Given the description of an element on the screen output the (x, y) to click on. 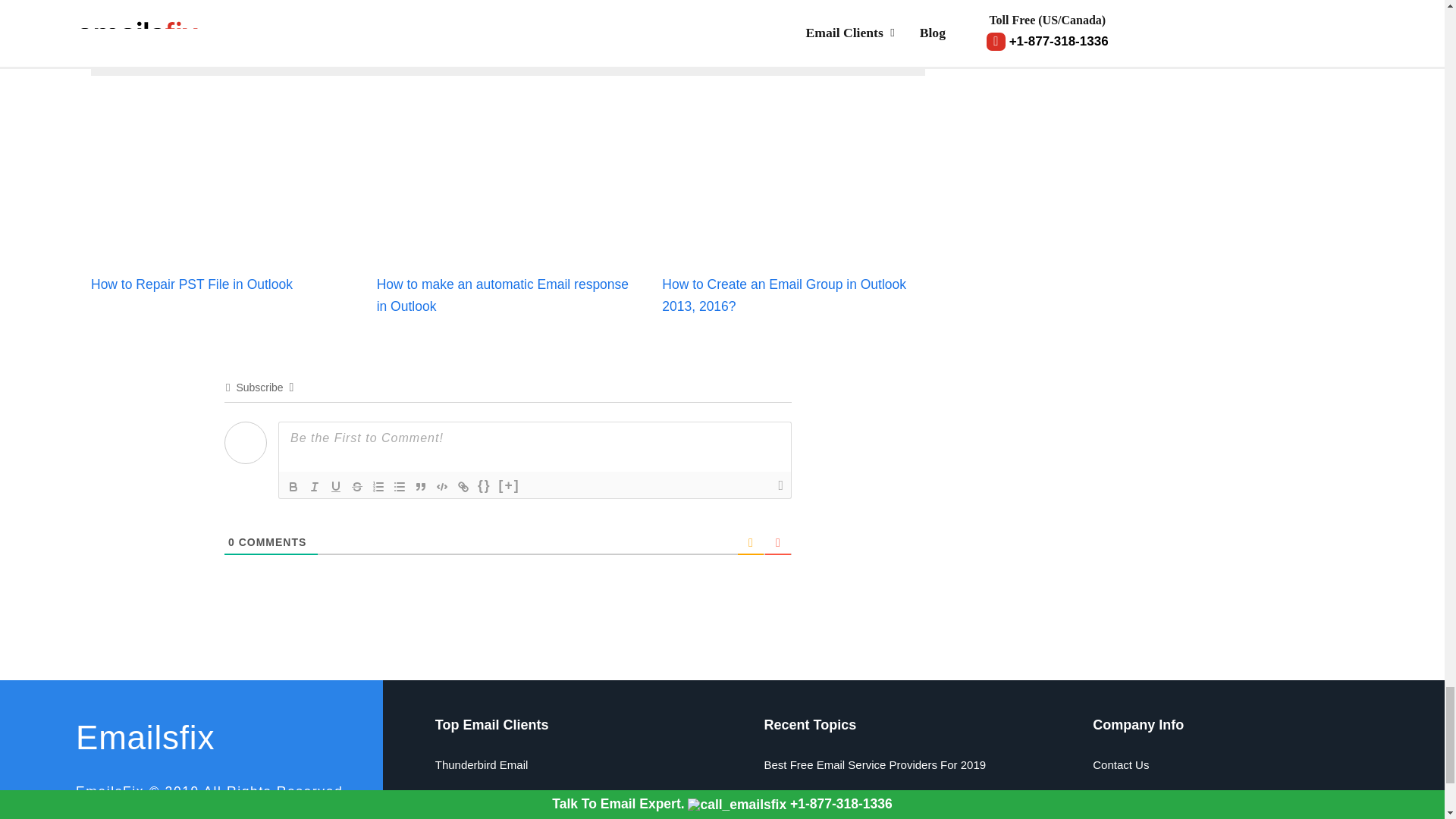
Underline (335, 486)
Bold (293, 486)
Source Code (484, 486)
Unordered List (399, 486)
Ordered List (378, 486)
Spoiler (509, 486)
Link (463, 486)
Italic (314, 486)
Code Block (441, 486)
Blockquote (420, 486)
